Given the description of an element on the screen output the (x, y) to click on. 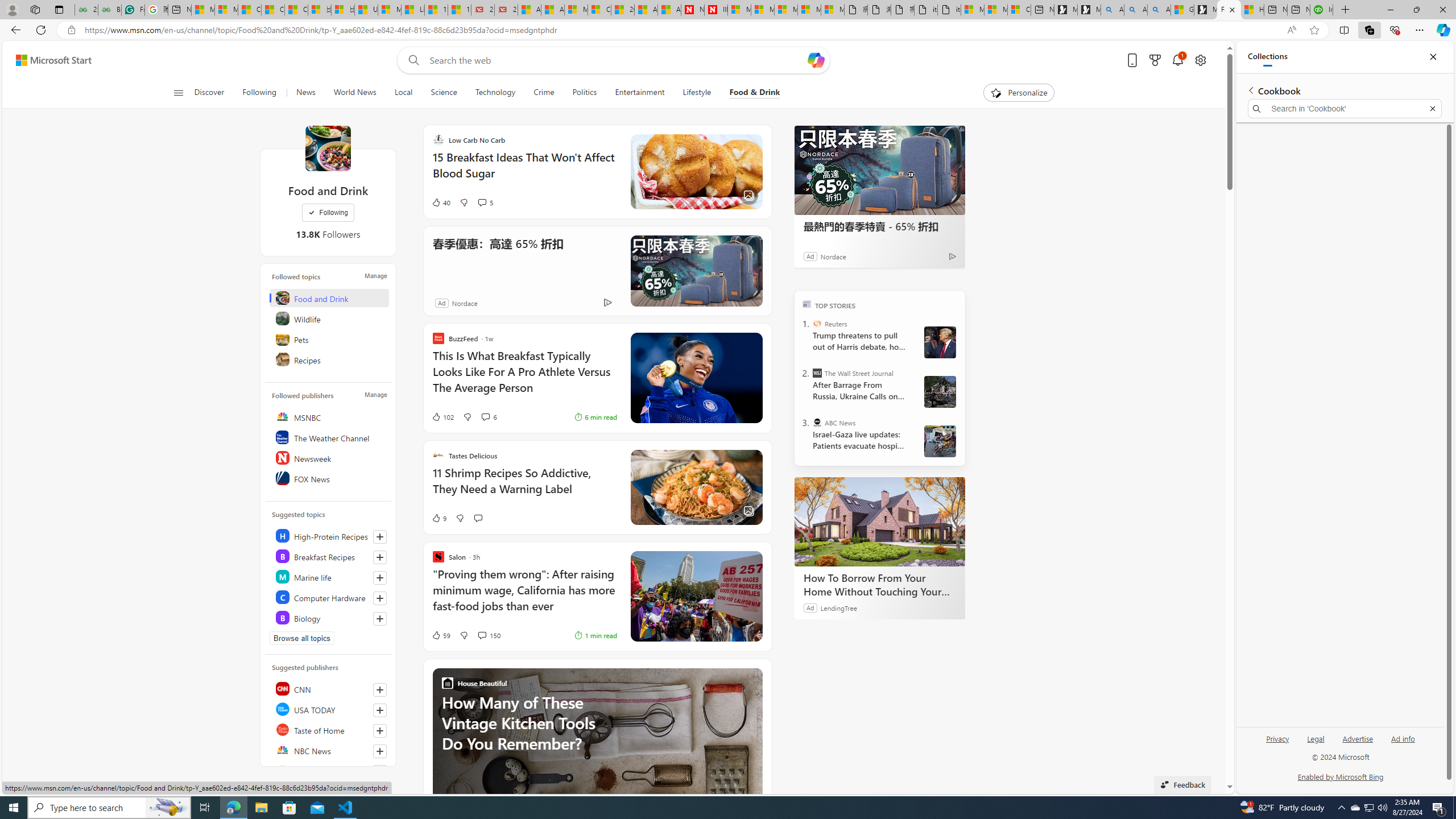
Alabama high school quarterback dies - Search Videos (1158, 9)
Exit search (1432, 108)
Consumer Health Data Privacy Policy (1019, 9)
View comments 5 Comment (485, 202)
Food and Drink - MSN (1228, 9)
View comments 150 Comment (489, 635)
